Given the description of an element on the screen output the (x, y) to click on. 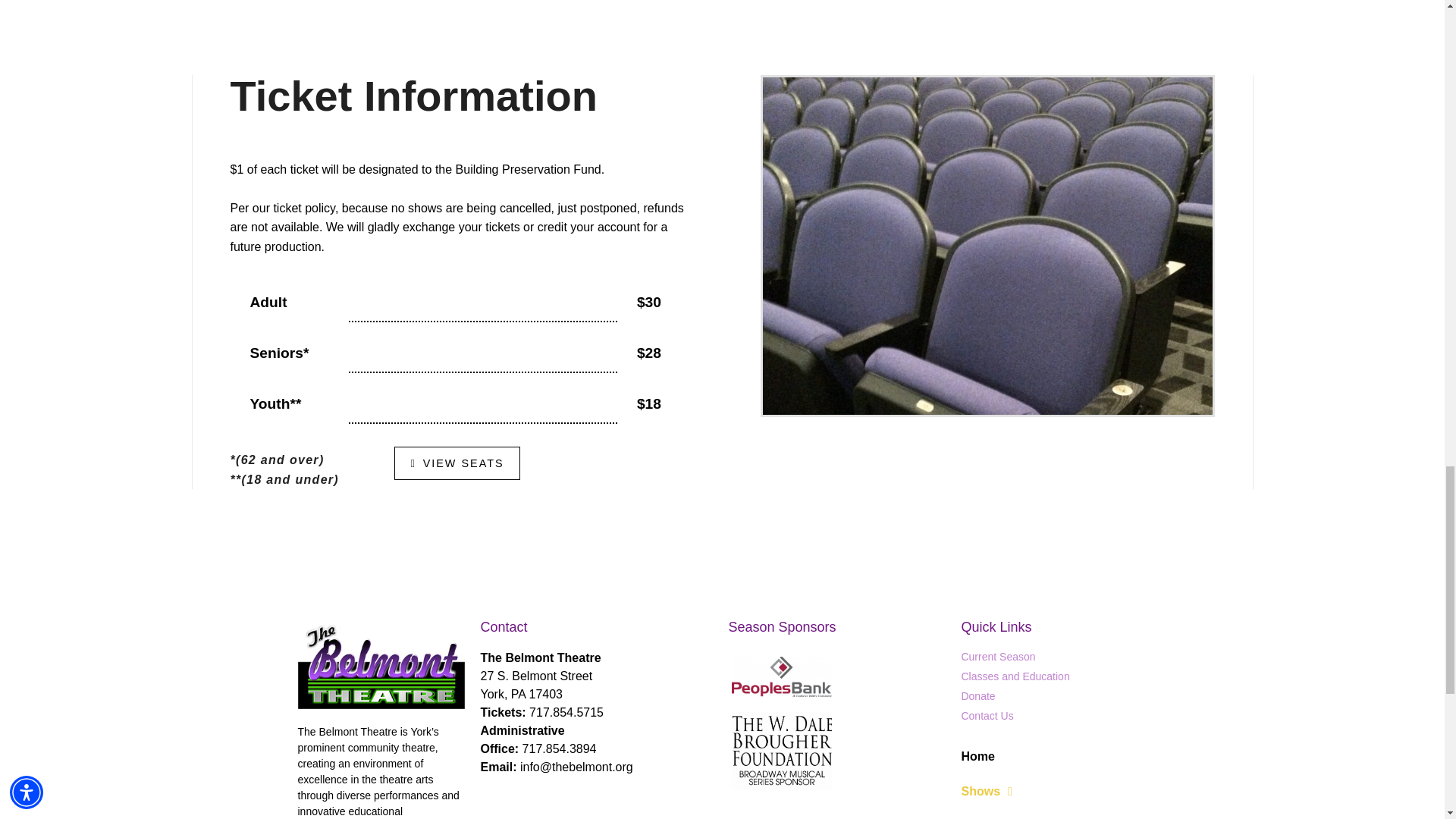
W.Dale Brougher (781, 750)
